Given the description of an element on the screen output the (x, y) to click on. 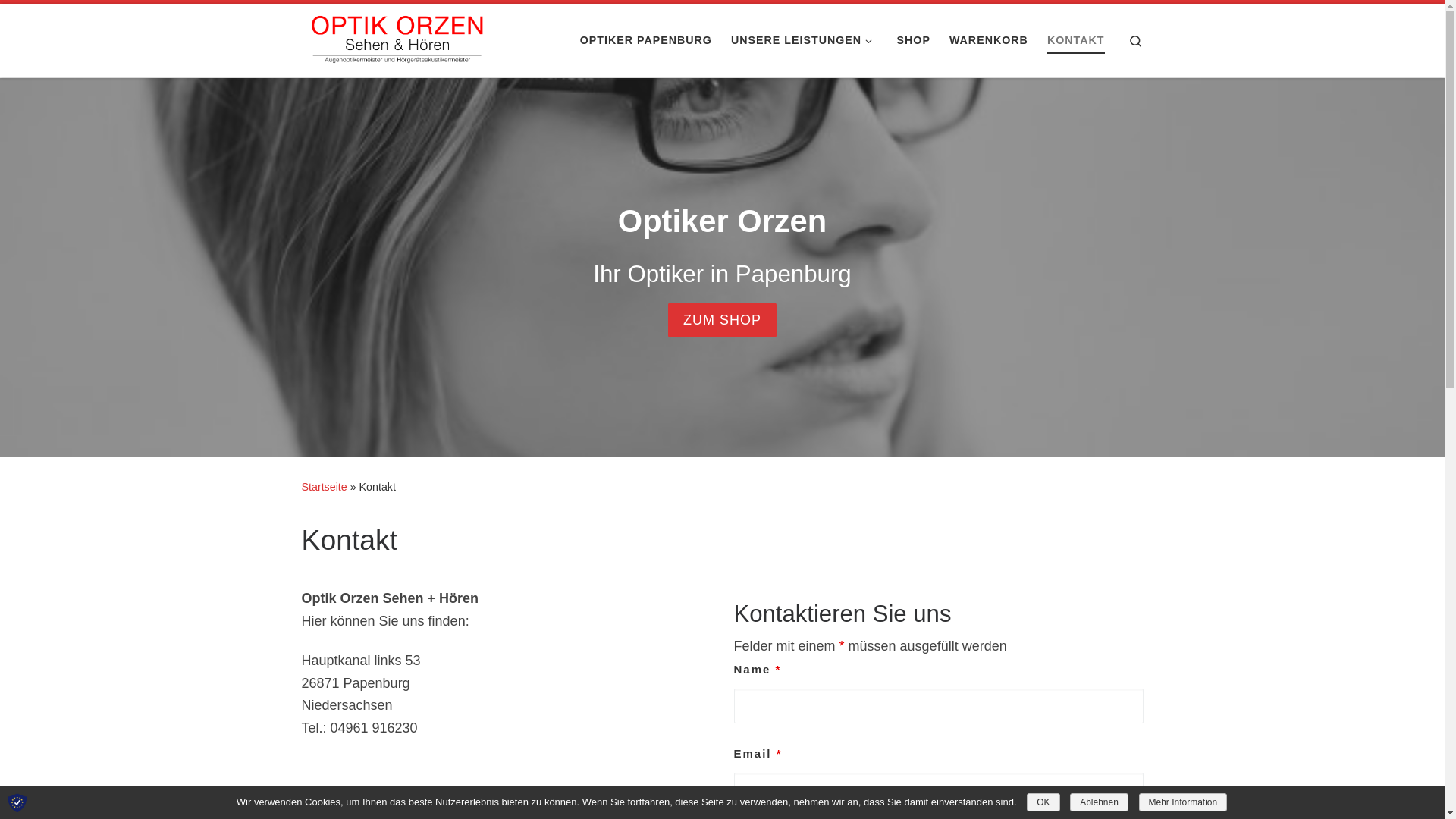
WARENKORB Element type: text (988, 40)
Startseite Element type: text (324, 486)
SHOP Element type: text (913, 40)
Mehr Information Element type: text (1183, 802)
Search Element type: text (1135, 40)
UNSERE LEISTUNGEN Element type: text (804, 40)
Optik Orzen | Optiker Papenburg Element type: hover (396, 37)
KONTAKT Element type: text (1075, 40)
Ablehnen Element type: text (1099, 802)
OPTIKER PAPENBURG Element type: text (645, 40)
ZUM SHOP Element type: text (722, 320)
OK Element type: text (1042, 802)
